Given the description of an element on the screen output the (x, y) to click on. 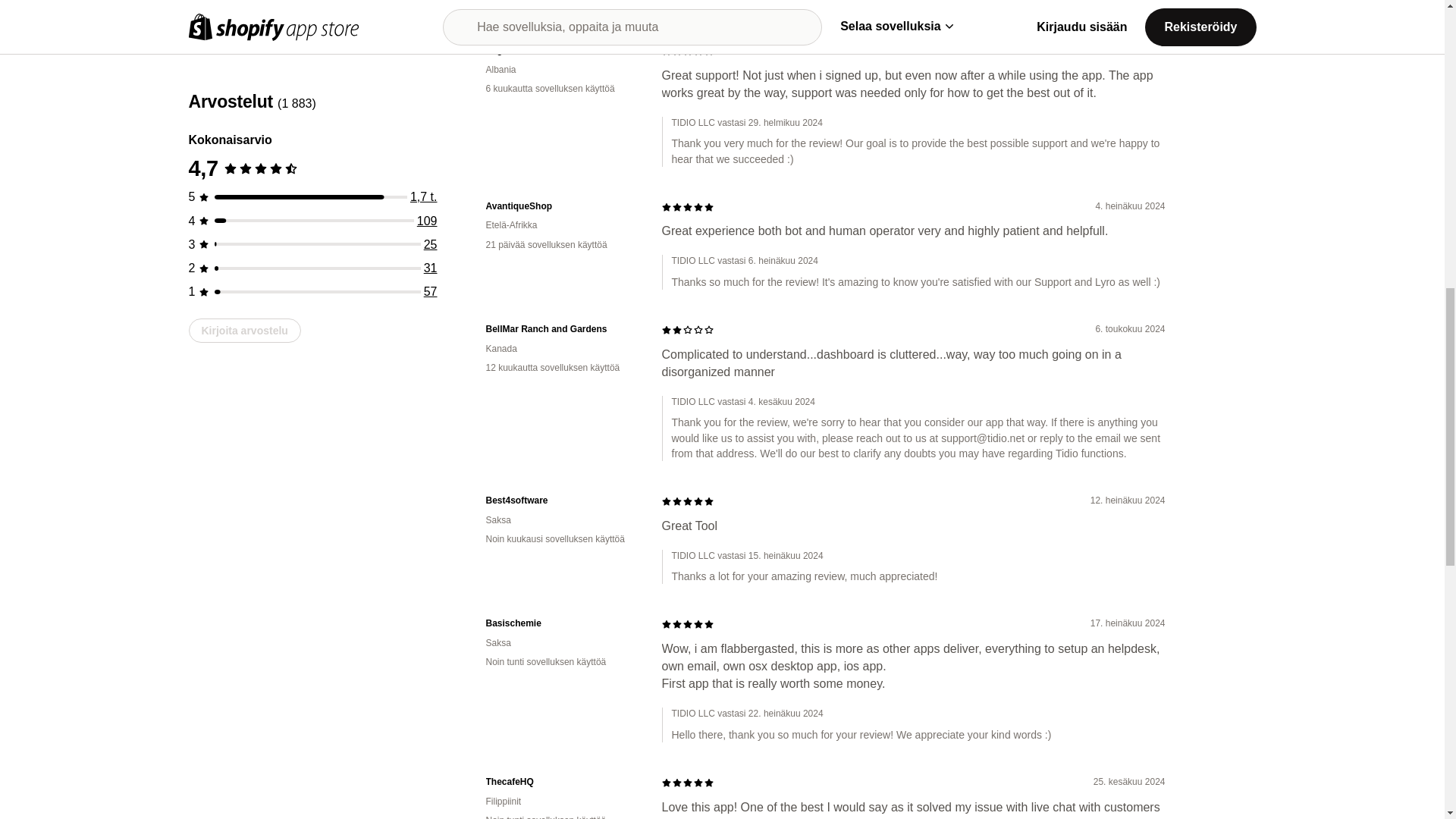
AvantiqueShop (560, 205)
BellMar Ranch and Gardens (560, 328)
Best4software (560, 500)
ThecafeHQ (560, 781)
Sagema (560, 50)
Basischemie (560, 623)
